Given the description of an element on the screen output the (x, y) to click on. 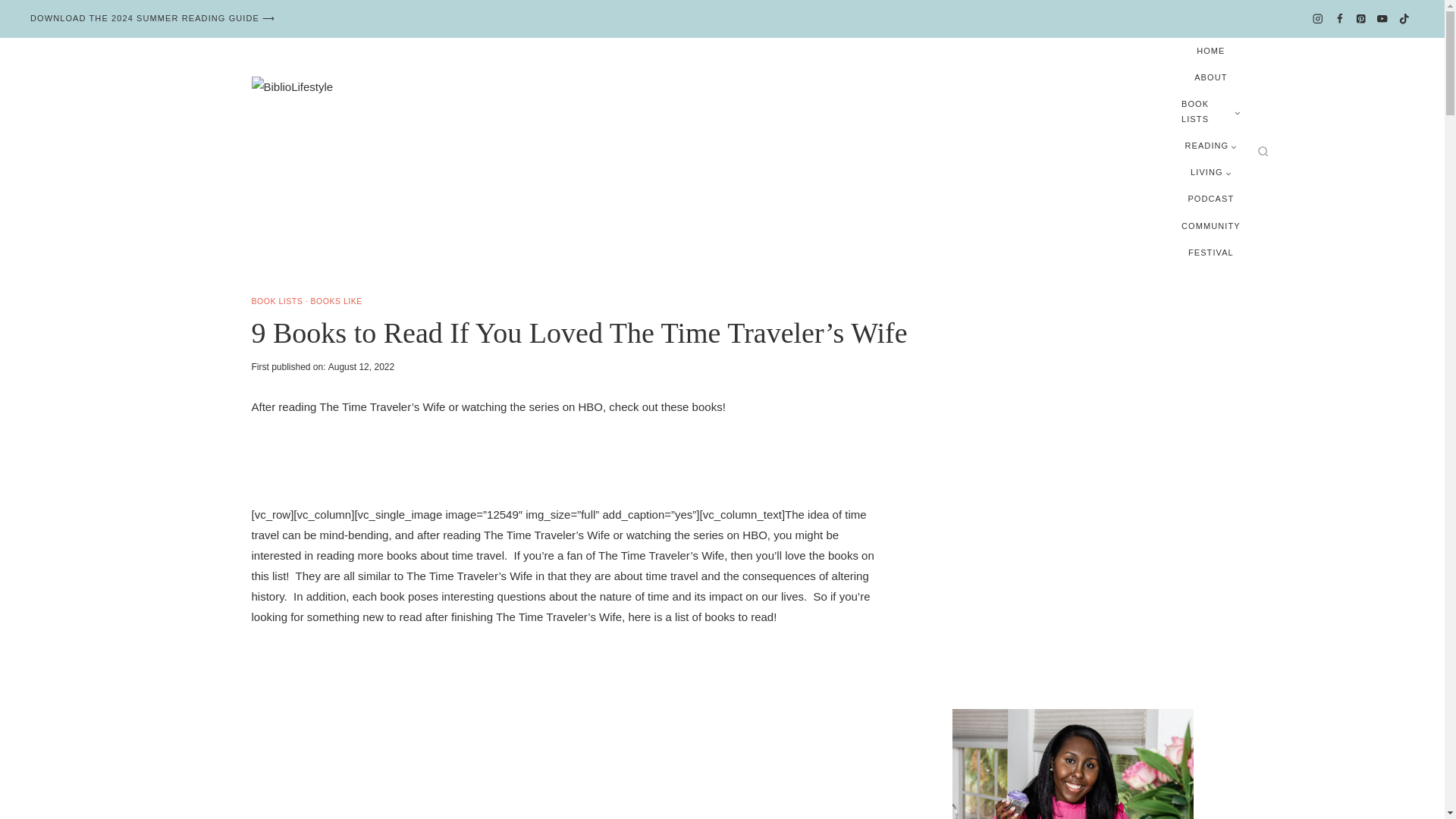
COMMUNITY (1211, 225)
ABOUT (1211, 77)
BOOK LISTS (1211, 111)
LIVING (1210, 171)
READING (1210, 145)
PODCAST (1210, 199)
HOME (1211, 50)
FESTIVAL (1210, 252)
